Given the description of an element on the screen output the (x, y) to click on. 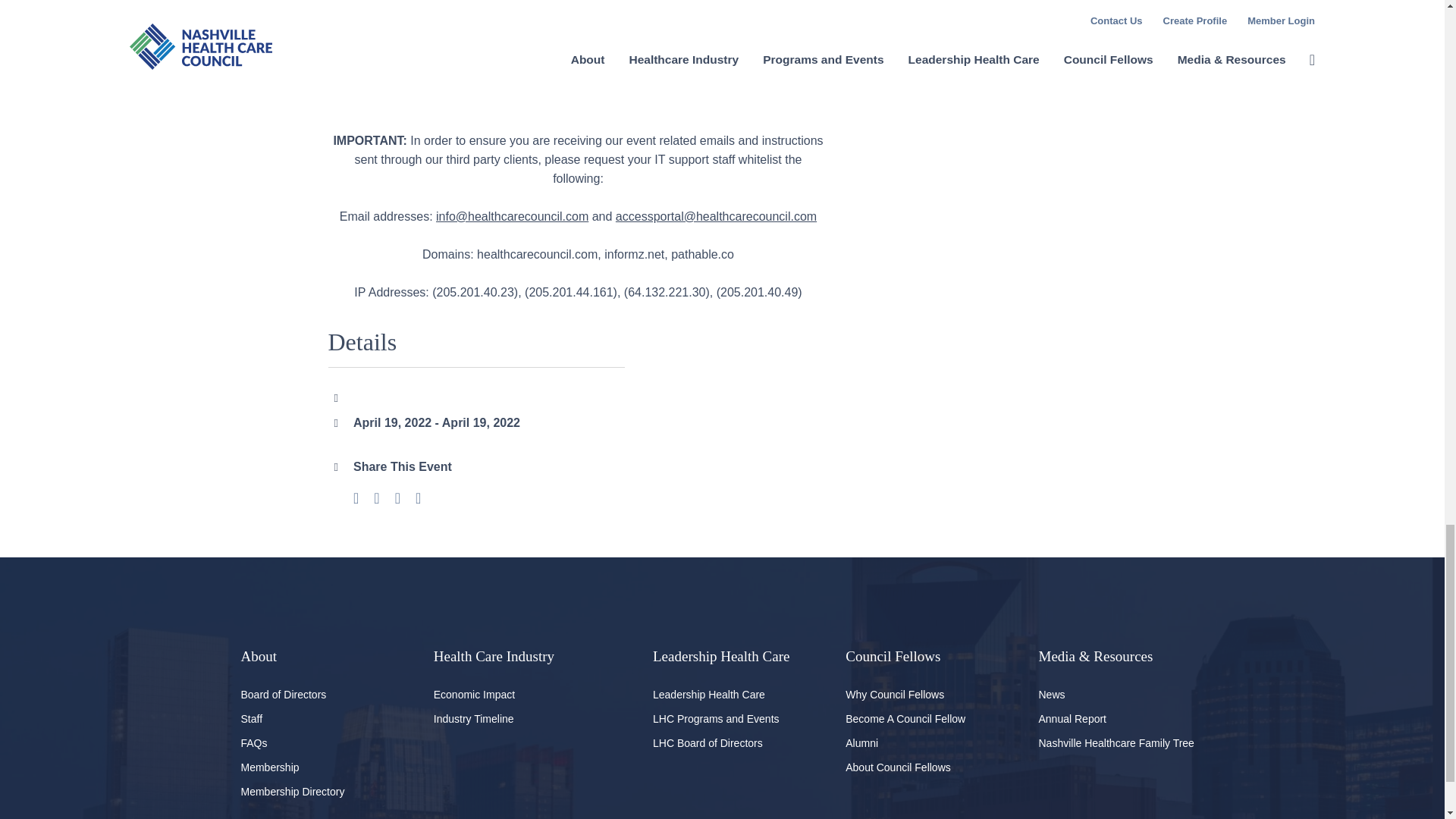
LinkedIn (397, 498)
Twitter (376, 498)
Share (417, 498)
Facebook (355, 498)
